Given the description of an element on the screen output the (x, y) to click on. 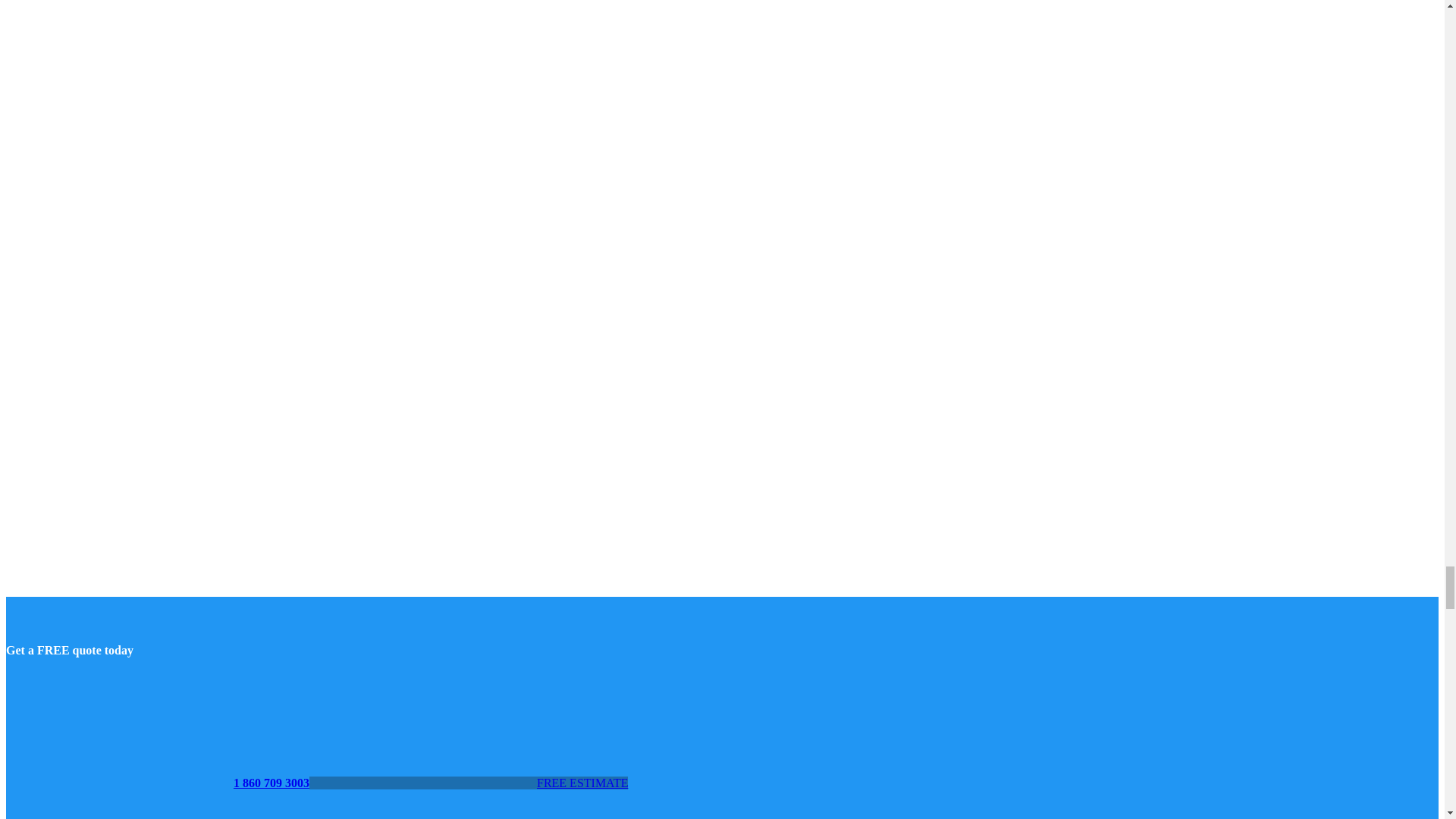
FREE ESTIMATE (467, 782)
1 860 709 3003 (156, 782)
